Given the description of an element on the screen output the (x, y) to click on. 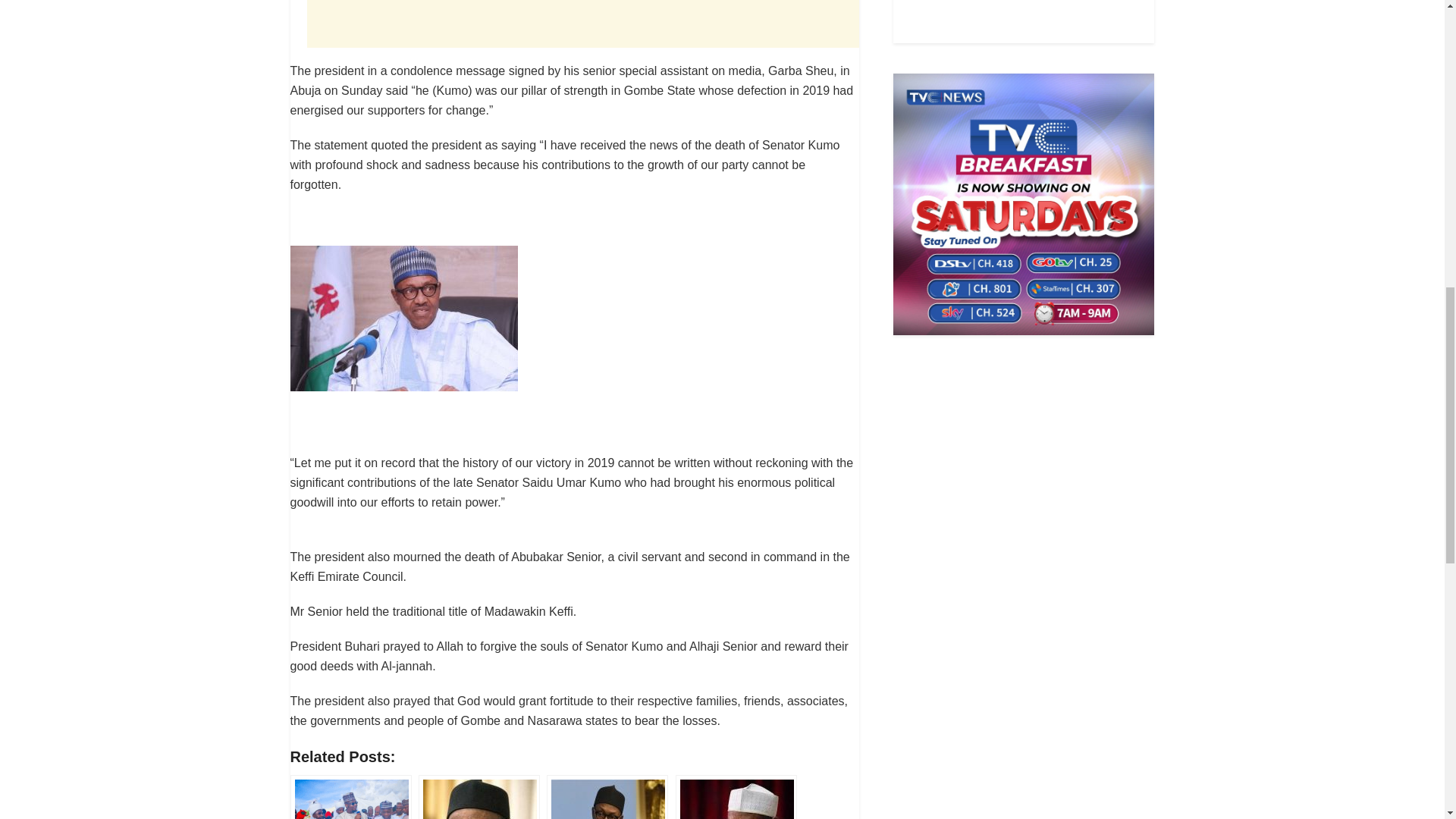
President Buhari mourns Senator Osinowo (607, 796)
Advertisement (582, 23)
President Buhari mourns Senator Waku (479, 796)
Buhari commissions Gombe-Kumo-Billiri-Kaltungo Highway (349, 796)
Buhari mourns Senator John Shagaya (735, 796)
Advertisement (1023, 18)
